Given the description of an element on the screen output the (x, y) to click on. 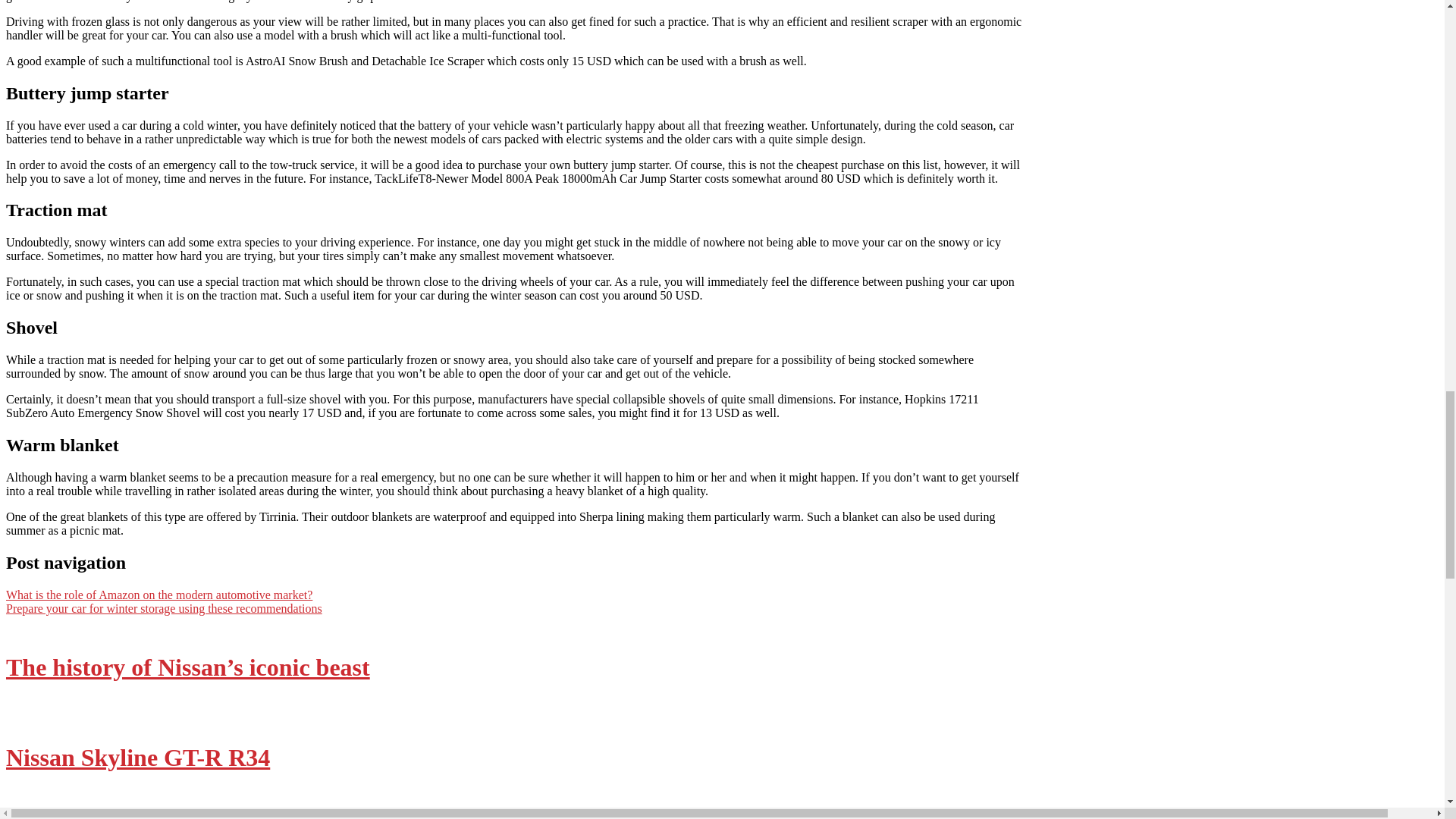
What is the role of Amazon on the modern automotive market? (159, 594)
Nissan Skyline GT-R R34 (137, 757)
